Given the description of an element on the screen output the (x, y) to click on. 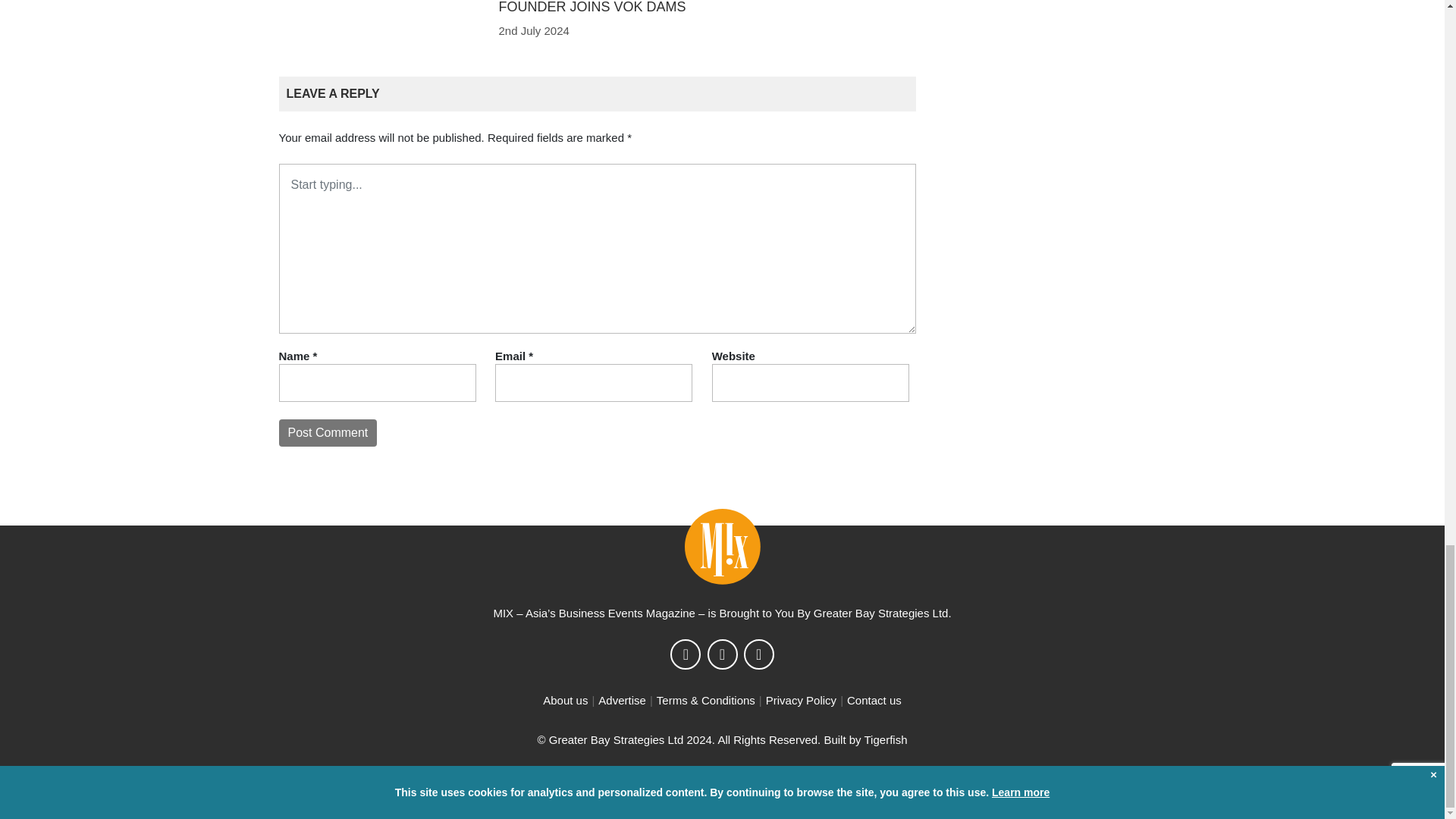
Post Comment (328, 432)
RIVIERA EVENTS CO-FOUNDER JOINS VOK DAMS (591, 7)
